Given the description of an element on the screen output the (x, y) to click on. 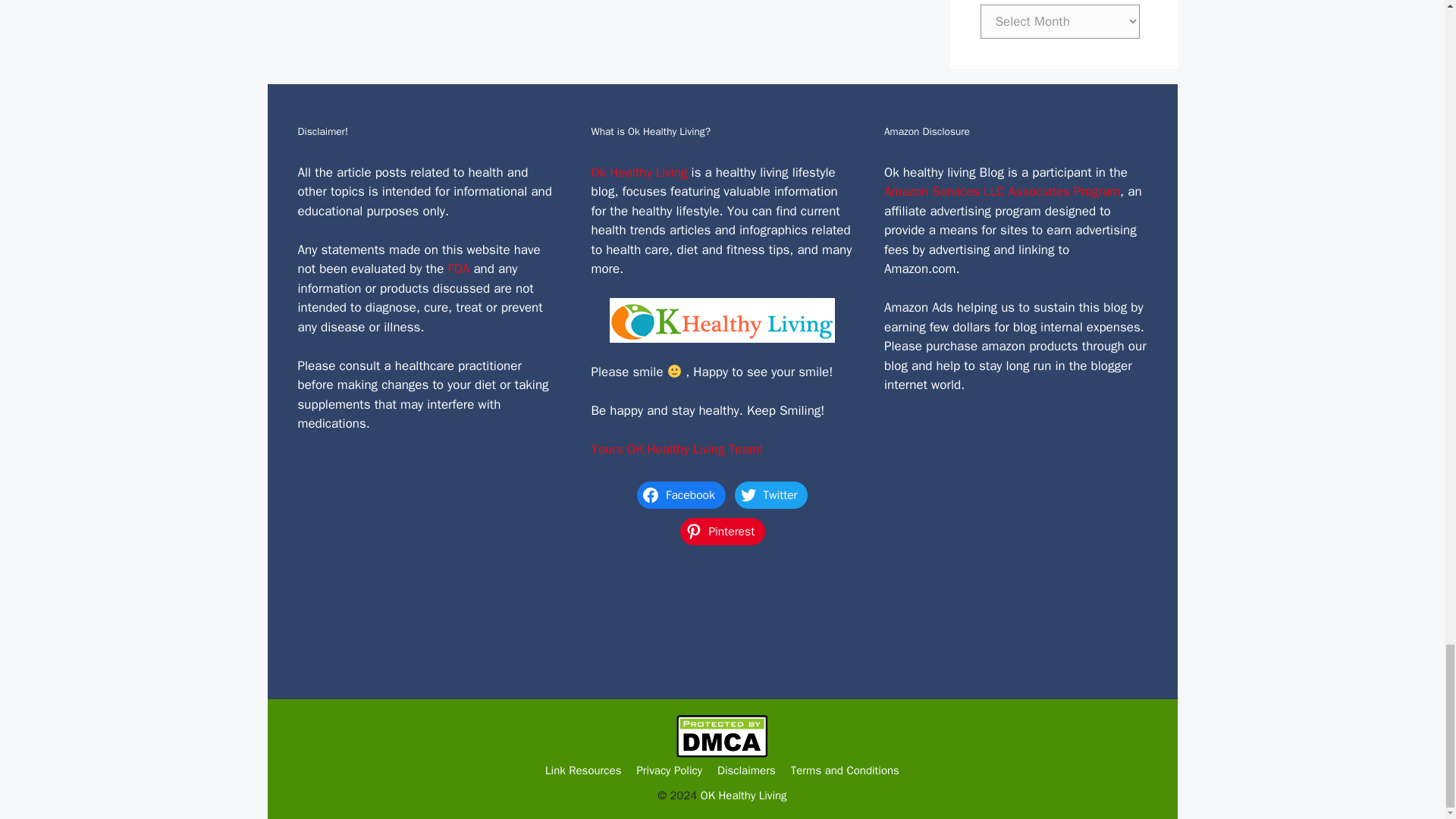
DMCA.com Protection Status (722, 753)
